Given the description of an element on the screen output the (x, y) to click on. 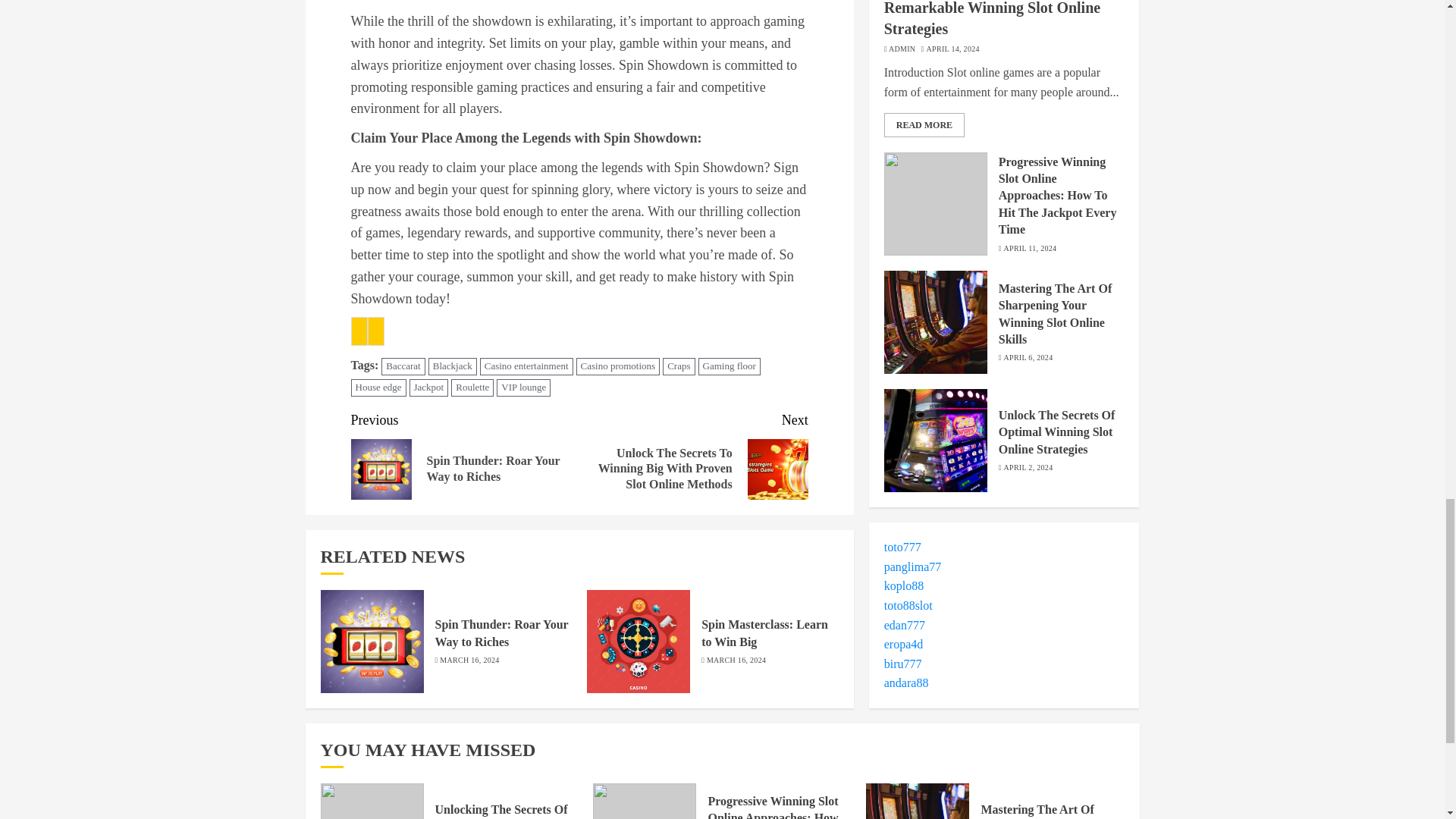
Blackjack (452, 366)
MARCH 16, 2024 (469, 660)
Baccarat (403, 366)
Casino entertainment (526, 366)
Craps (678, 366)
MARCH 16, 2024 (735, 660)
Casino promotions (618, 366)
Spin Masterclass: Learn to Win Big (764, 633)
VIP lounge (523, 387)
House edge (378, 387)
Roulette (472, 387)
Gaming floor (728, 366)
Jackpot (428, 387)
